Given the description of an element on the screen output the (x, y) to click on. 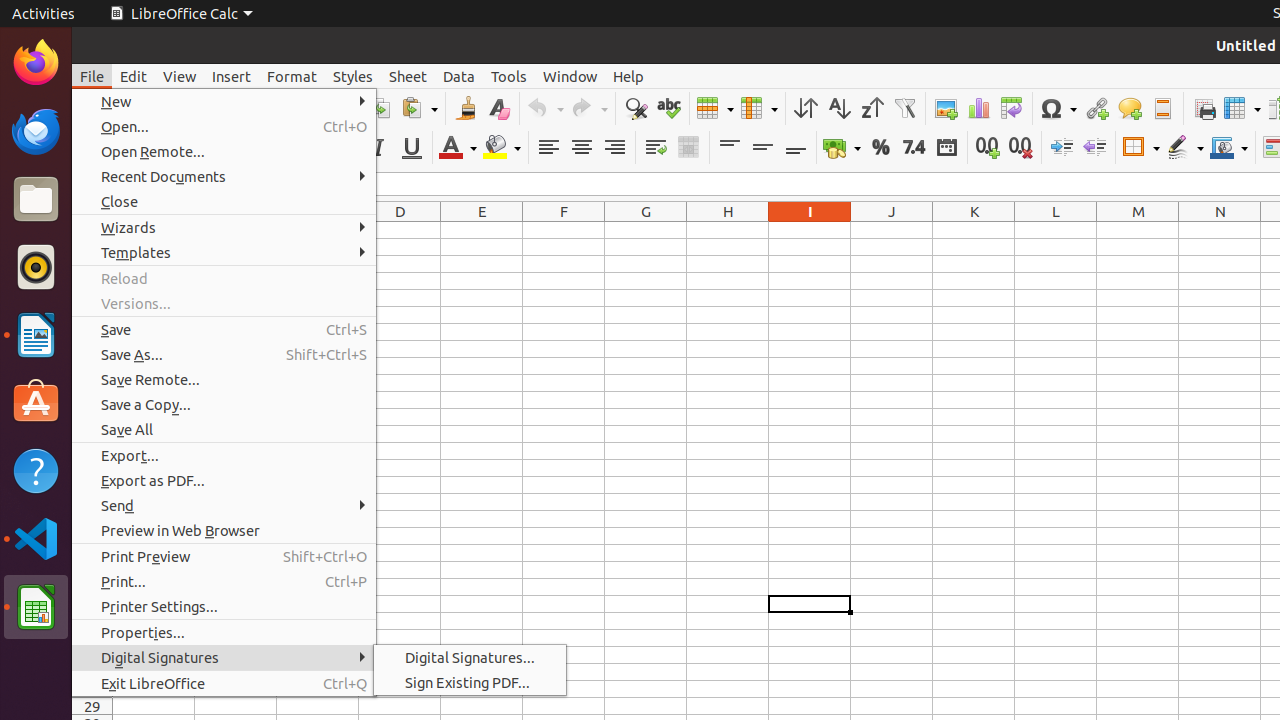
Sort Ascending Element type: push-button (838, 108)
Sort Descending Element type: push-button (871, 108)
Align Bottom Element type: push-button (795, 147)
Align Right Element type: push-button (614, 147)
K1 Element type: table-cell (974, 230)
